Given the description of an element on the screen output the (x, y) to click on. 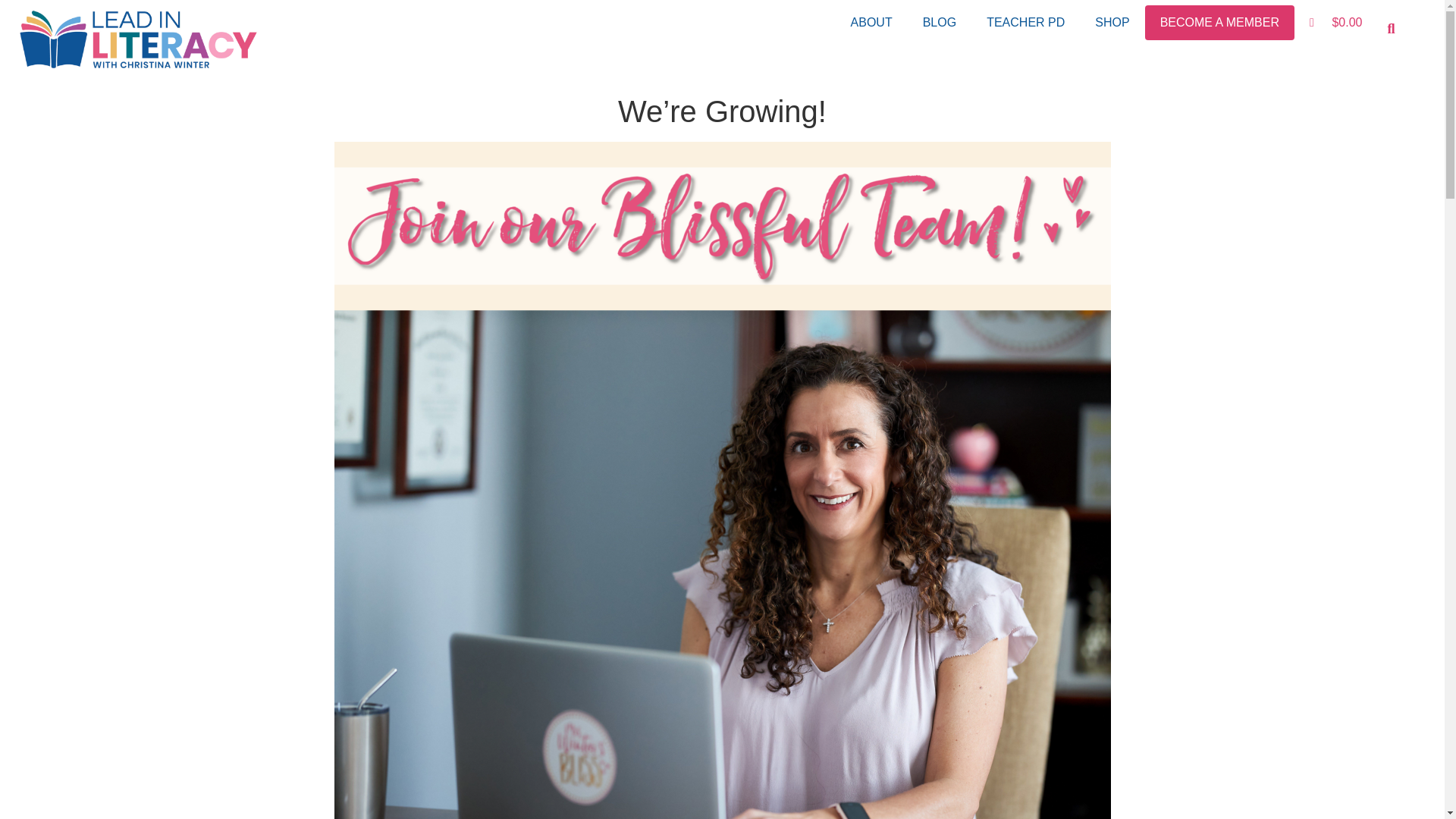
BLOG (939, 22)
TEACHER PD (1025, 22)
ABOUT (871, 22)
BECOME A MEMBER (1219, 22)
SHOP (1112, 22)
